Given the description of an element on the screen output the (x, y) to click on. 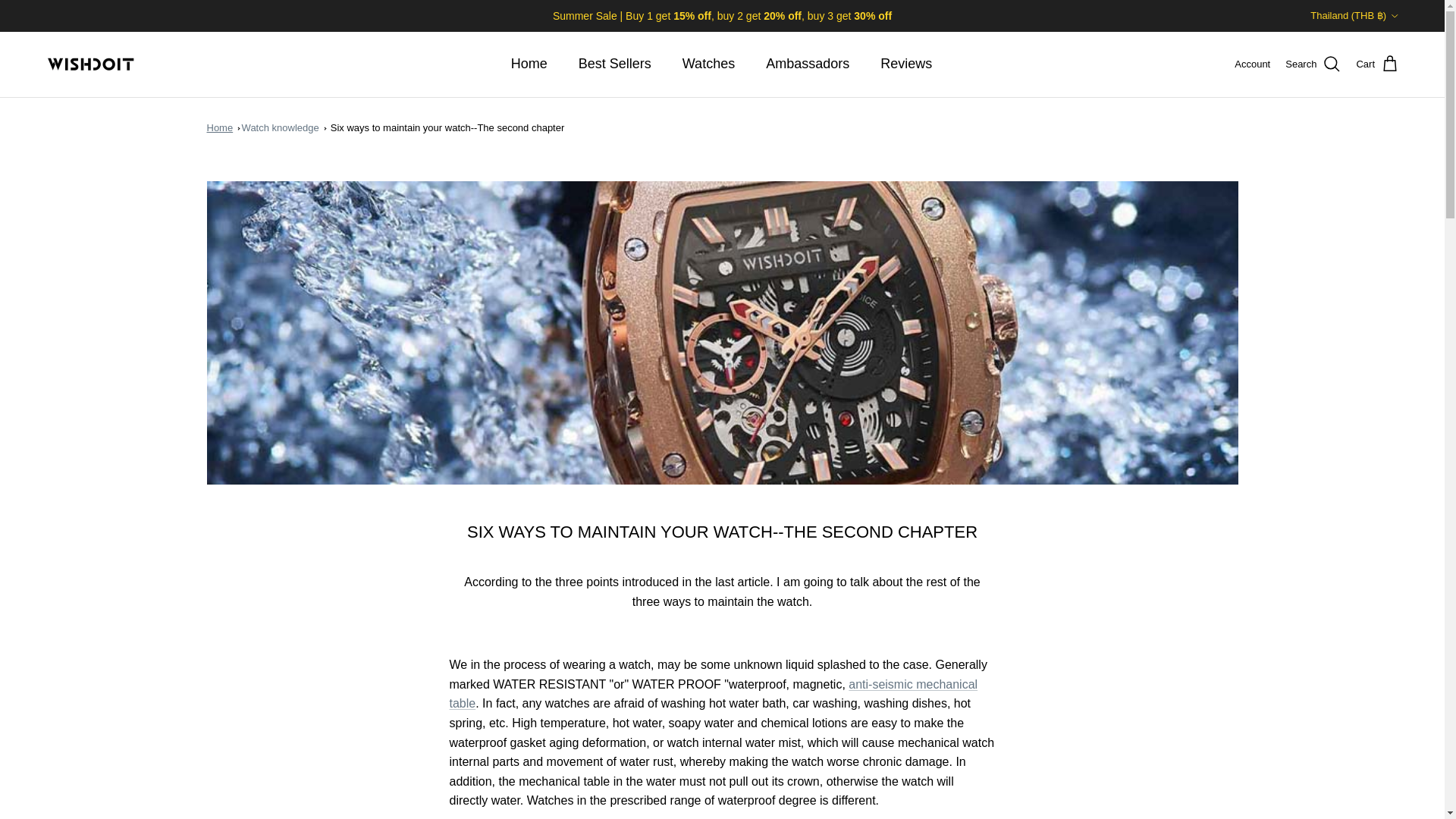
Reviews (905, 63)
Watches (708, 63)
Wishdoit Watches (90, 63)
Ambassadors (807, 63)
Search (1312, 64)
Best Sellers (614, 63)
Account (1251, 64)
Home (528, 63)
Cart (1377, 64)
